Given the description of an element on the screen output the (x, y) to click on. 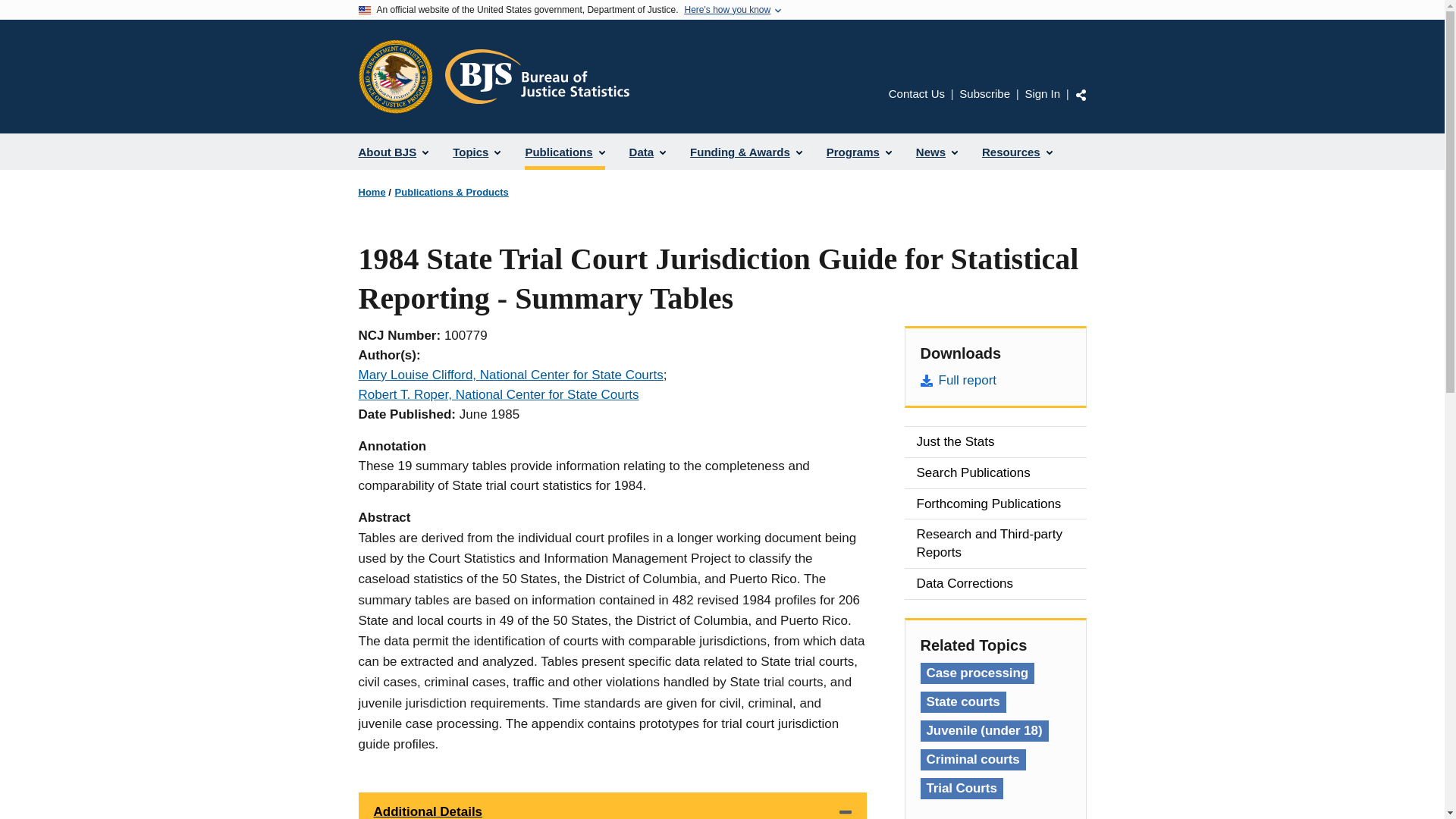
Topics (476, 151)
Just the Stats (995, 441)
Full report (995, 380)
Full report (995, 380)
Mary Louise Clifford, National Center for State Courts (510, 374)
Data Corrections (995, 583)
Subscribe (984, 93)
Home (371, 192)
About BJS (393, 151)
